Given the description of an element on the screen output the (x, y) to click on. 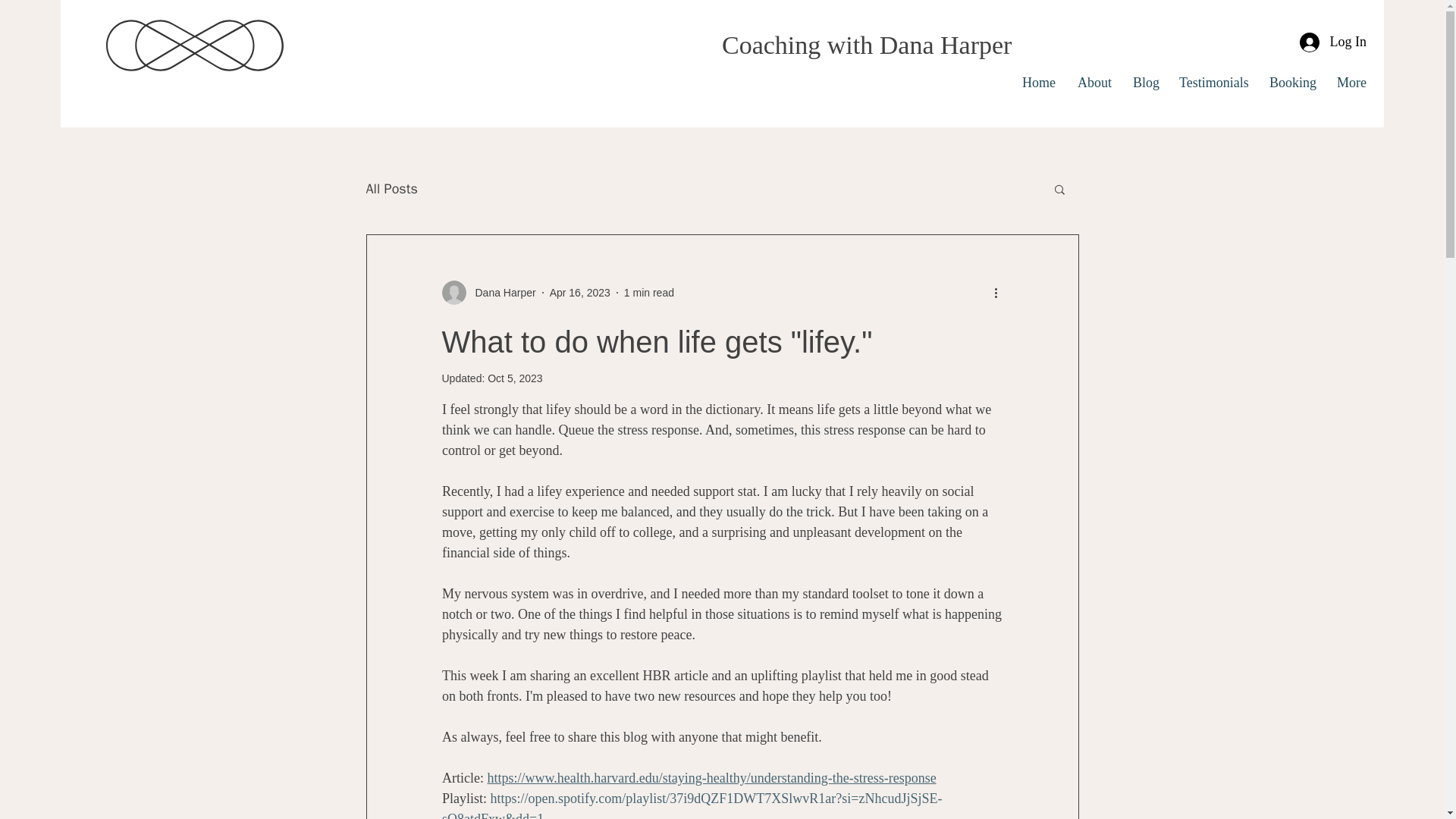
1 min read (649, 292)
Booking (1290, 82)
Apr 16, 2023 (580, 292)
Testimonials (1212, 82)
Dana  Harper (500, 293)
All Posts (390, 188)
Oct 5, 2023 (514, 378)
About (1093, 82)
Blog (1144, 82)
Log In (1332, 41)
Dana Harper (488, 292)
Home (1037, 82)
